Given the description of an element on the screen output the (x, y) to click on. 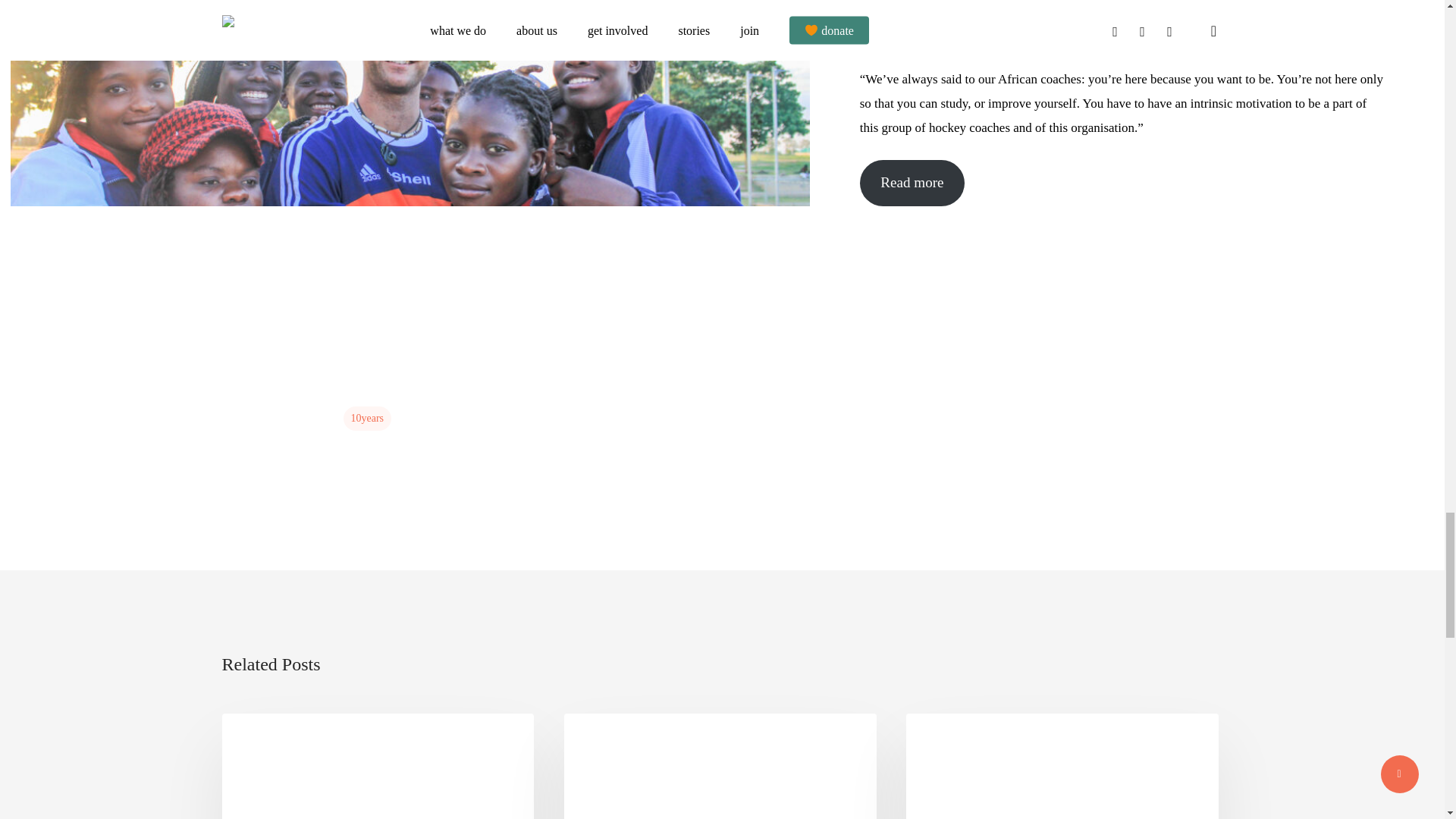
10years (366, 418)
stories (604, 737)
Read more (911, 182)
stories (946, 737)
stories (261, 737)
